Given the description of an element on the screen output the (x, y) to click on. 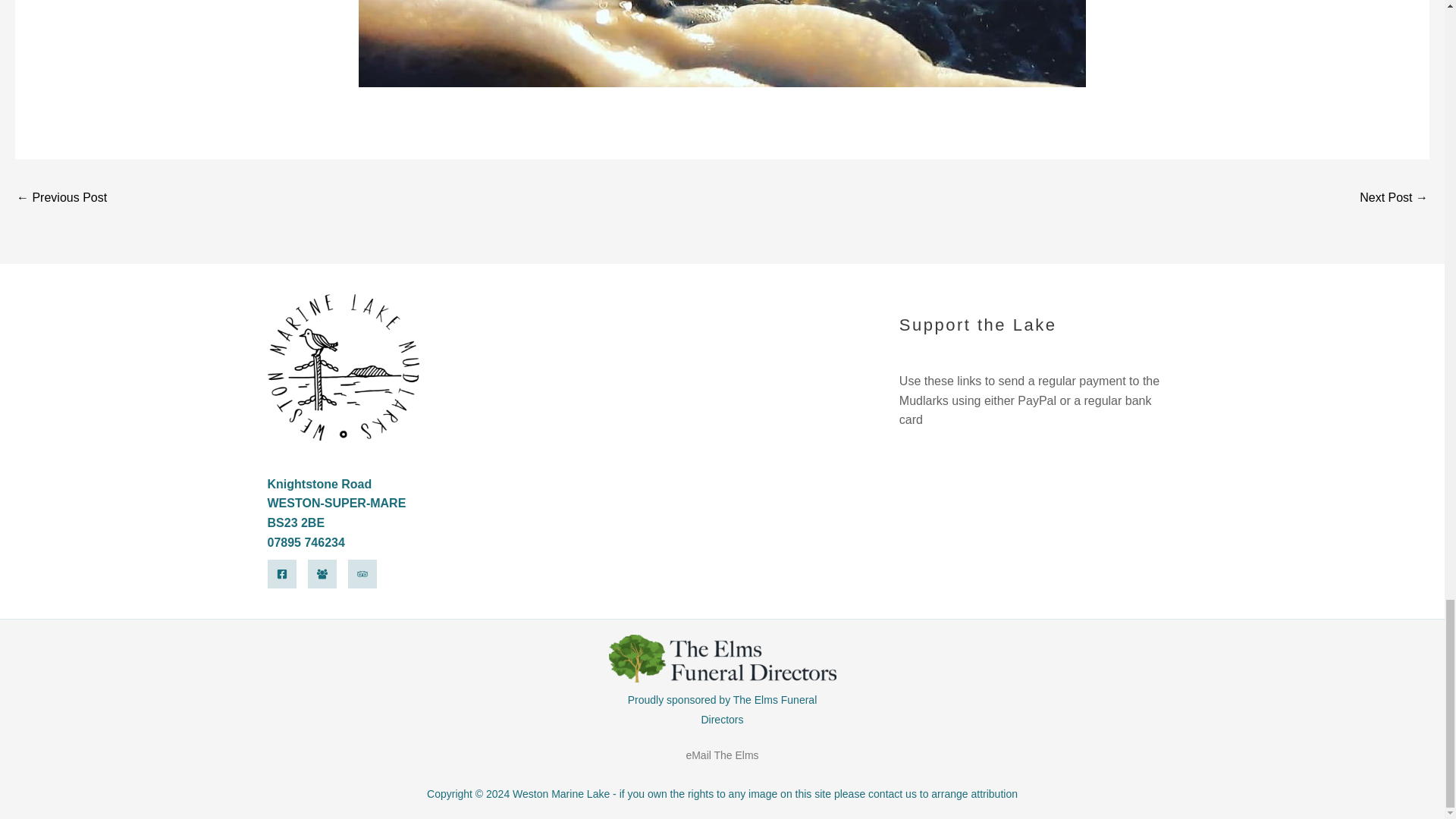
eMail The Elms (721, 755)
Meet the Swimmers - Tim (1393, 198)
PayPal (1038, 514)
Water by Fiona Philp (61, 198)
